Given the description of an element on the screen output the (x, y) to click on. 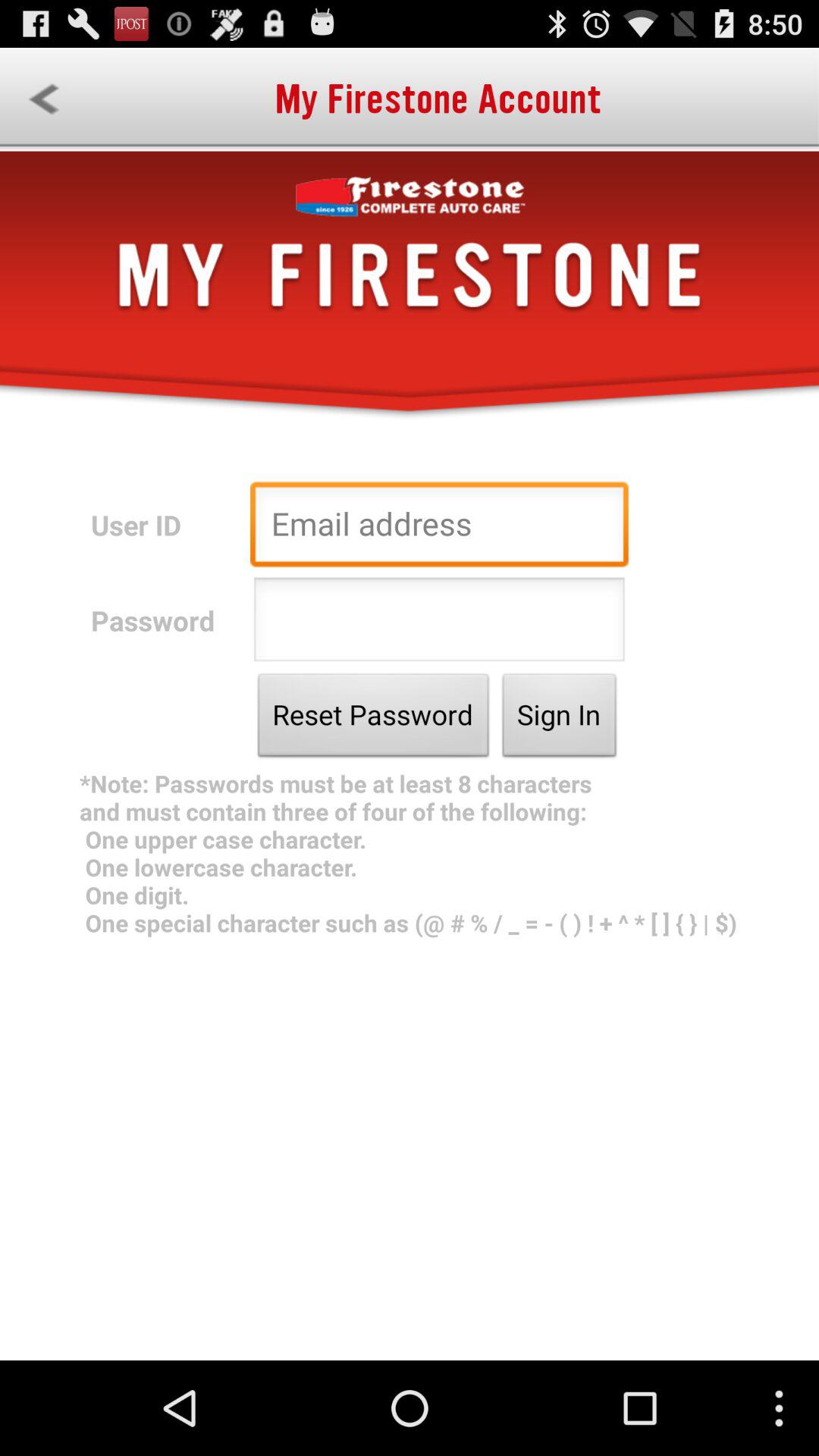
turn on the item next to the sign in button (373, 719)
